Given the description of an element on the screen output the (x, y) to click on. 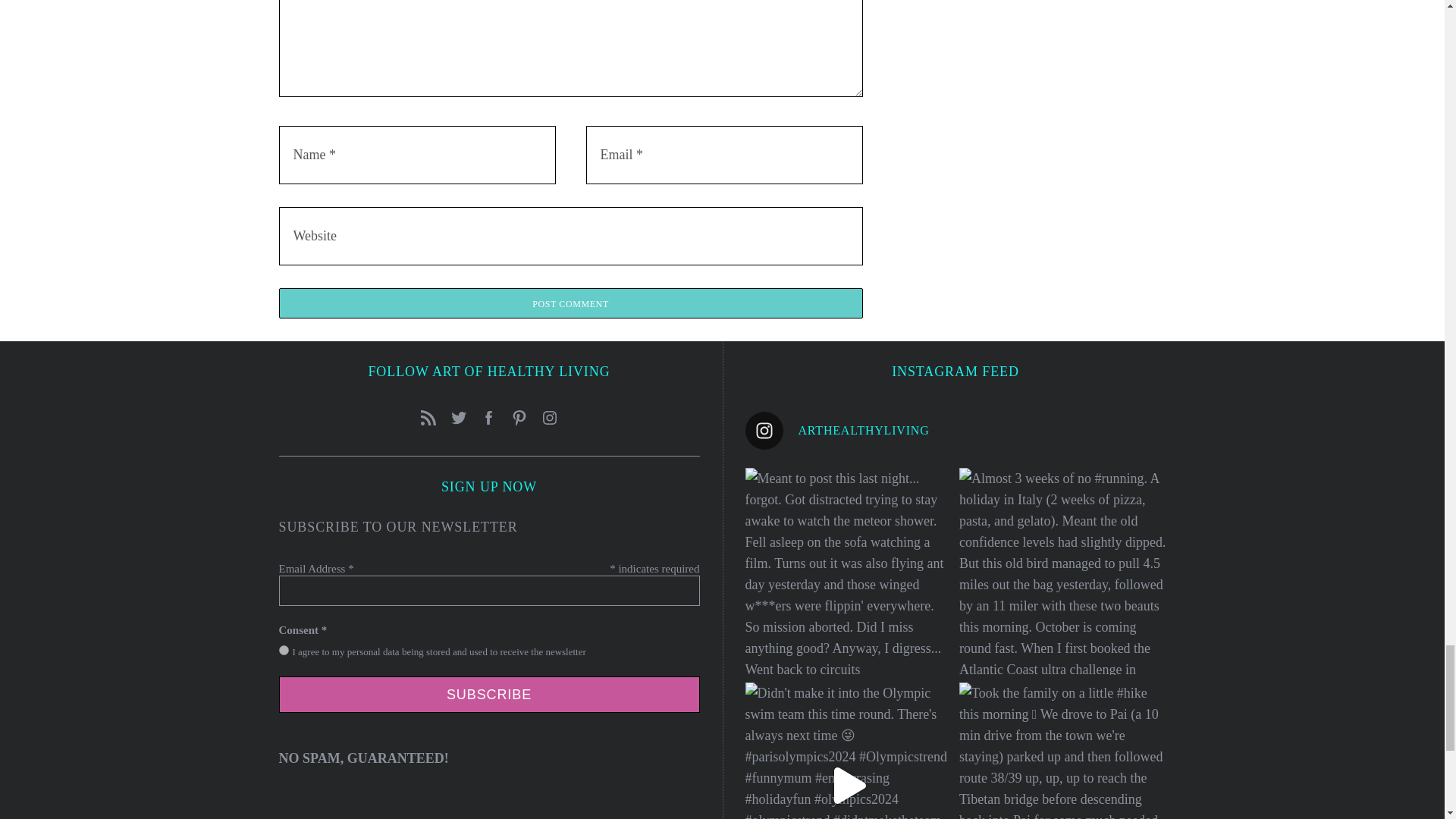
Post Comment (571, 303)
Subscribe (489, 694)
